Given the description of an element on the screen output the (x, y) to click on. 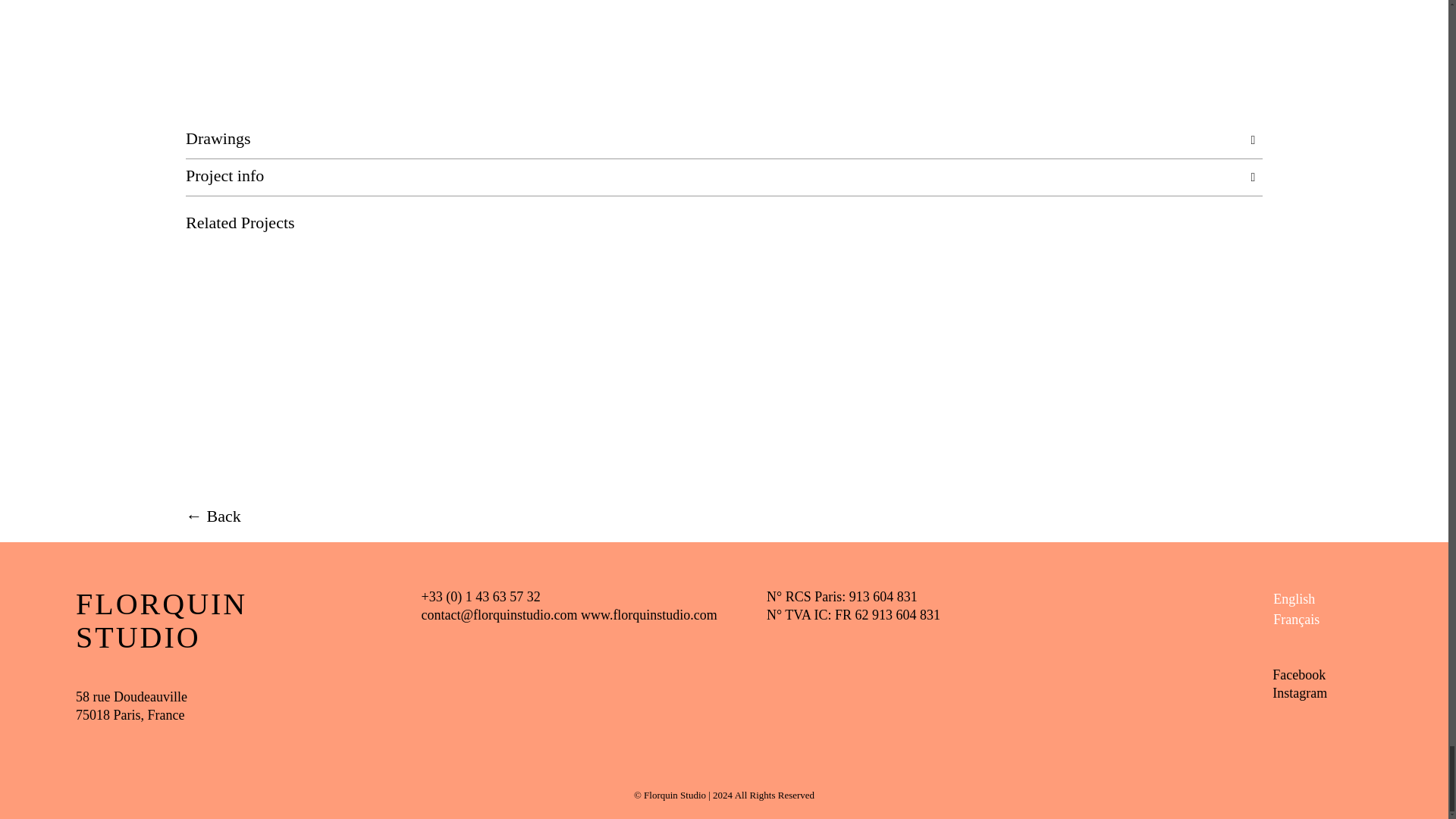
Drawings (724, 140)
Instagram (1299, 693)
Facebook (1298, 674)
Project info (724, 177)
www.florquinstudio.com (648, 614)
English (1295, 598)
